Given the description of an element on the screen output the (x, y) to click on. 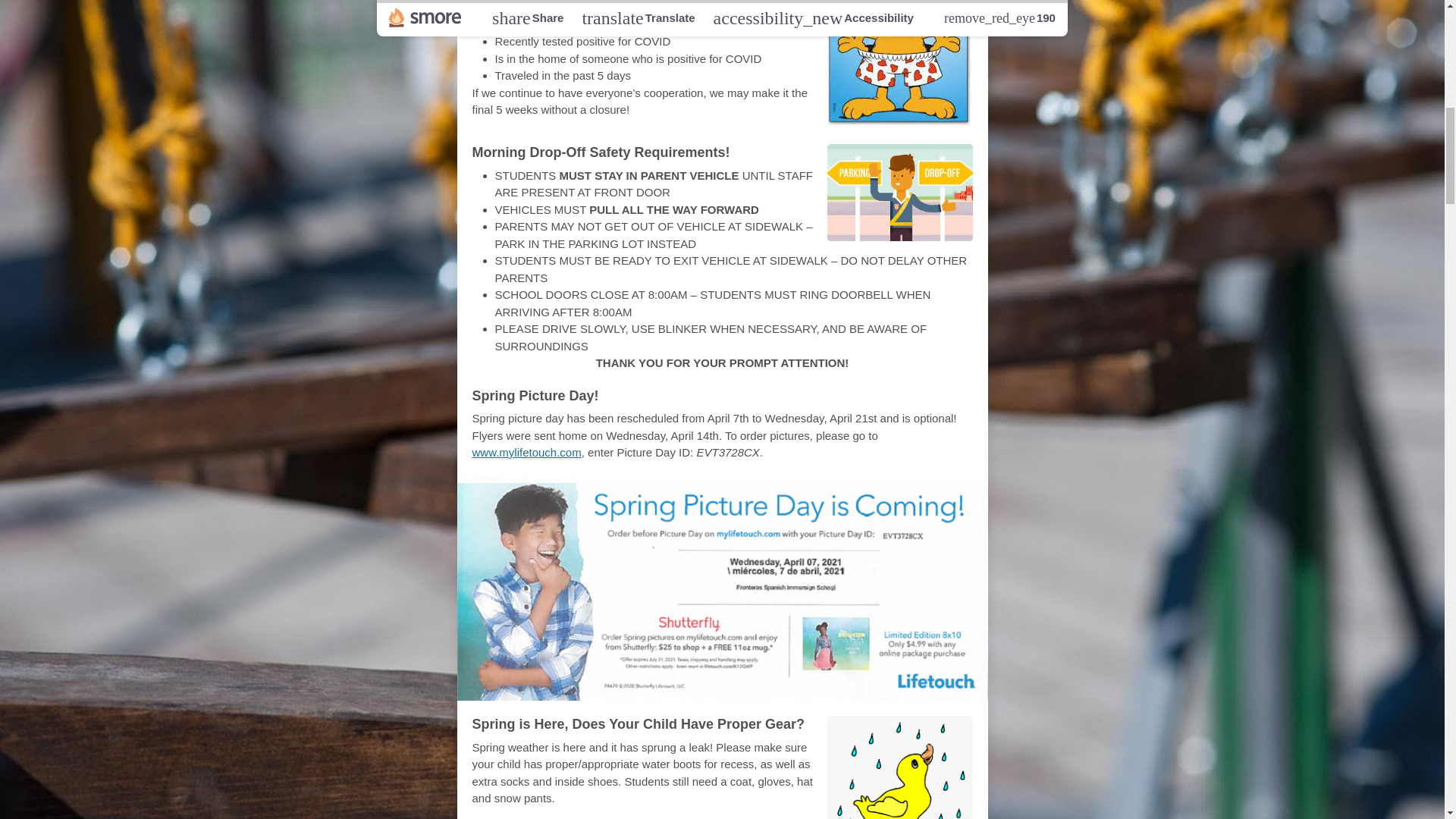
www.mylifetouch.com (525, 451)
